Given the description of an element on the screen output the (x, y) to click on. 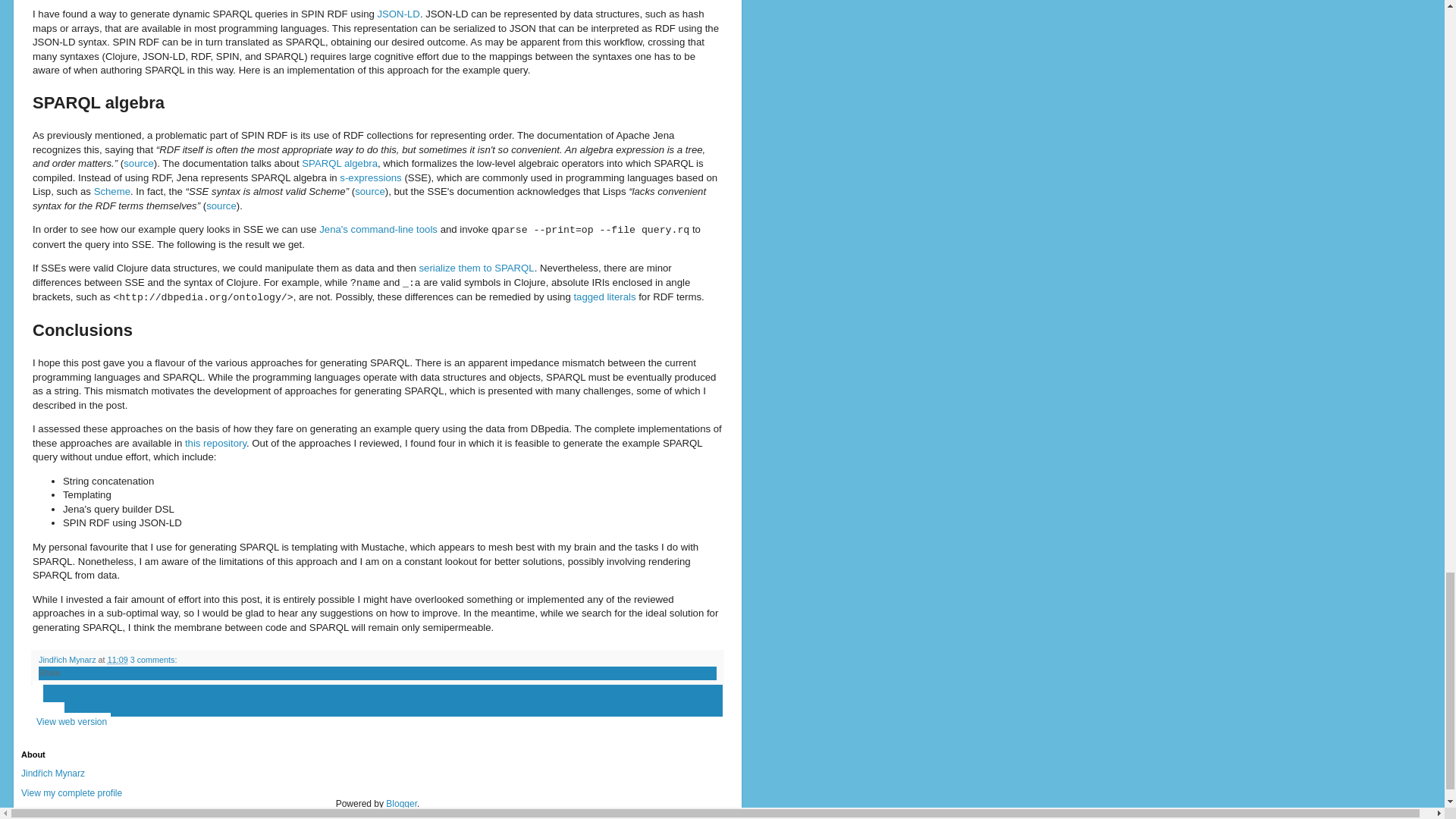
permanent link (117, 659)
source (370, 191)
SPARQL algebra (339, 163)
s-expressions (370, 177)
source (220, 205)
Older Posts (37, 700)
source (138, 163)
Scheme (112, 191)
JSON-LD (398, 13)
author profile (69, 659)
Newer Posts (37, 689)
